Given the description of an element on the screen output the (x, y) to click on. 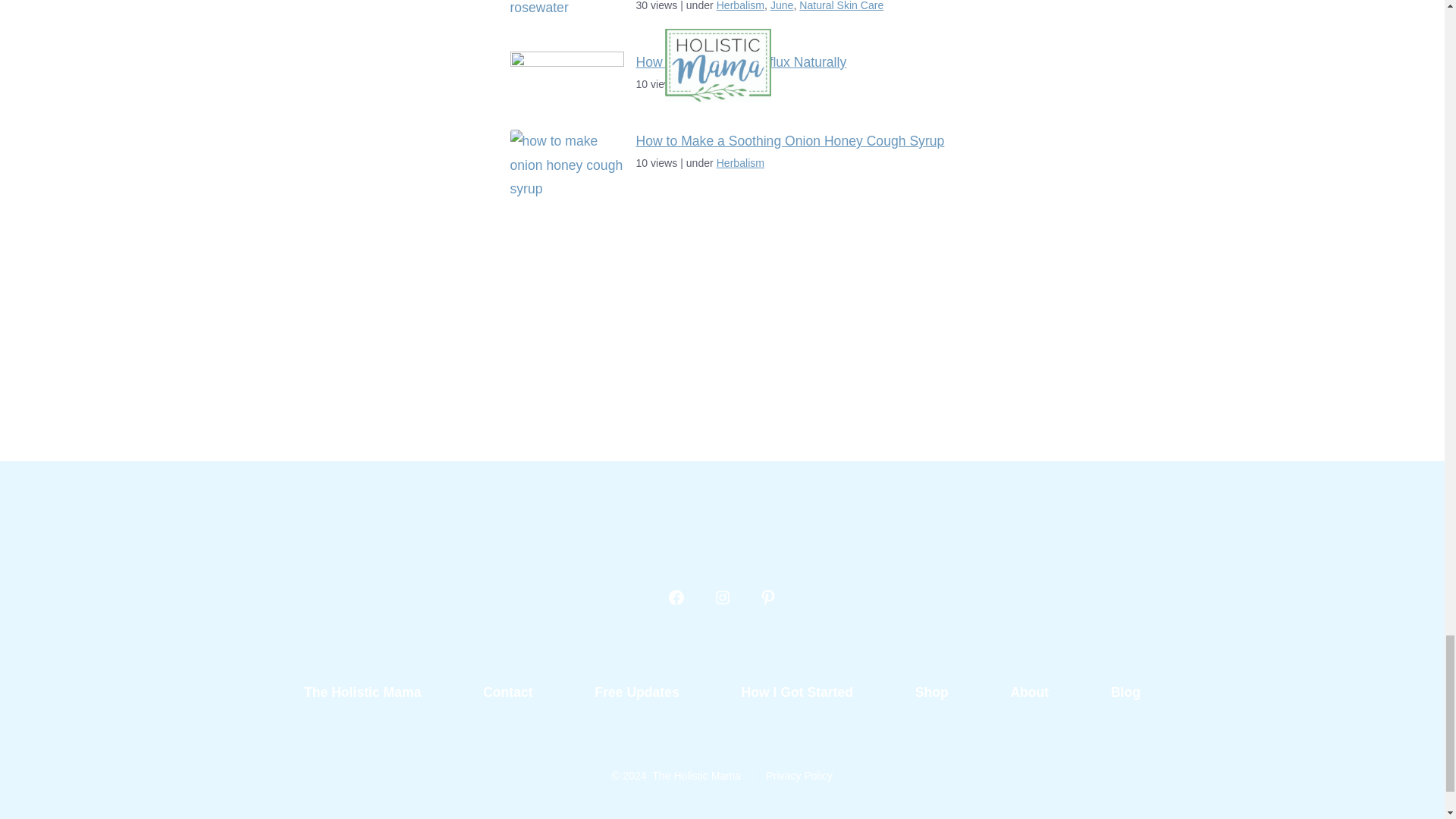
Herbalism (740, 5)
June (781, 5)
